Given the description of an element on the screen output the (x, y) to click on. 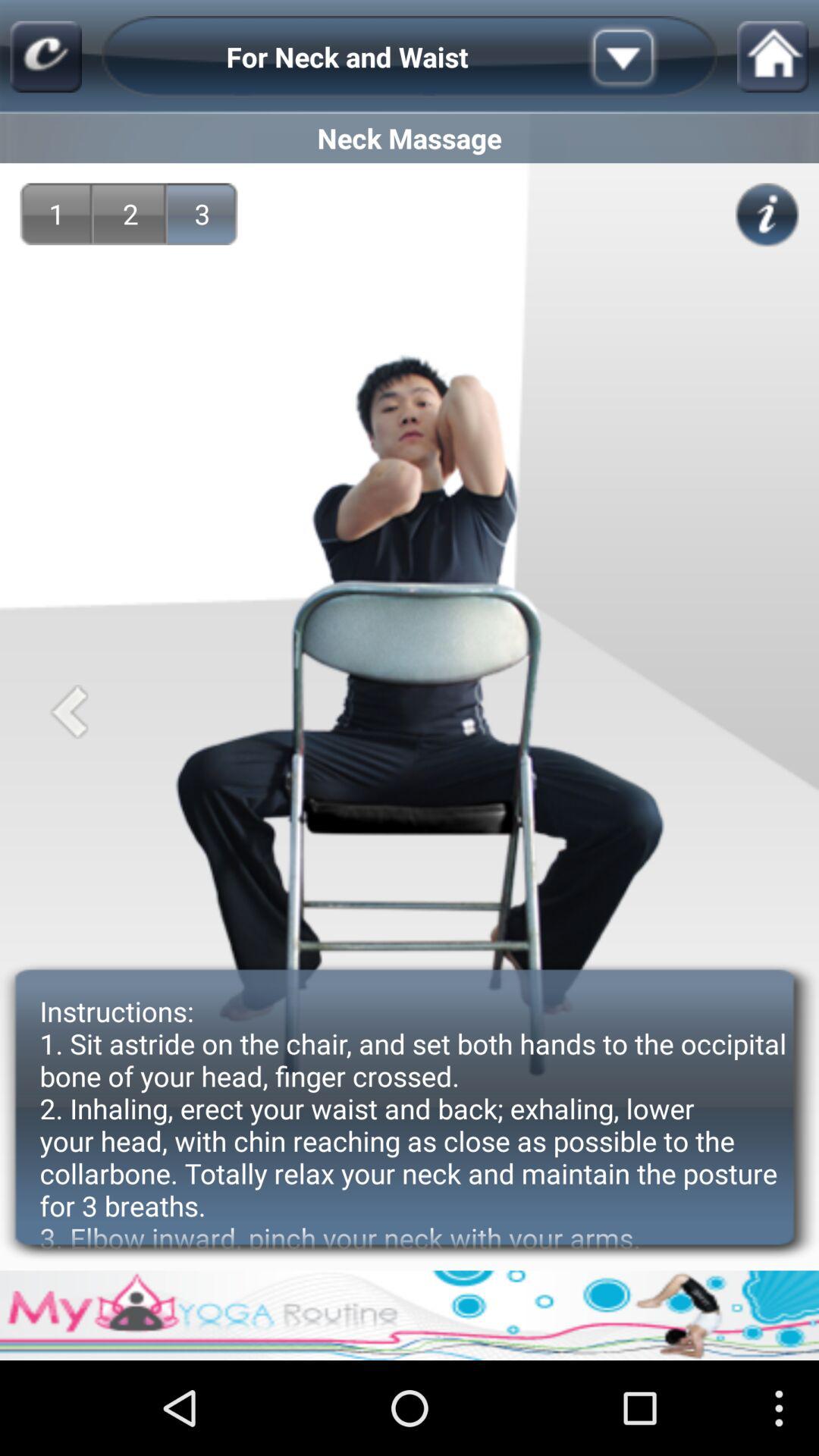
choose the icon below 1 app (68, 711)
